Given the description of an element on the screen output the (x, y) to click on. 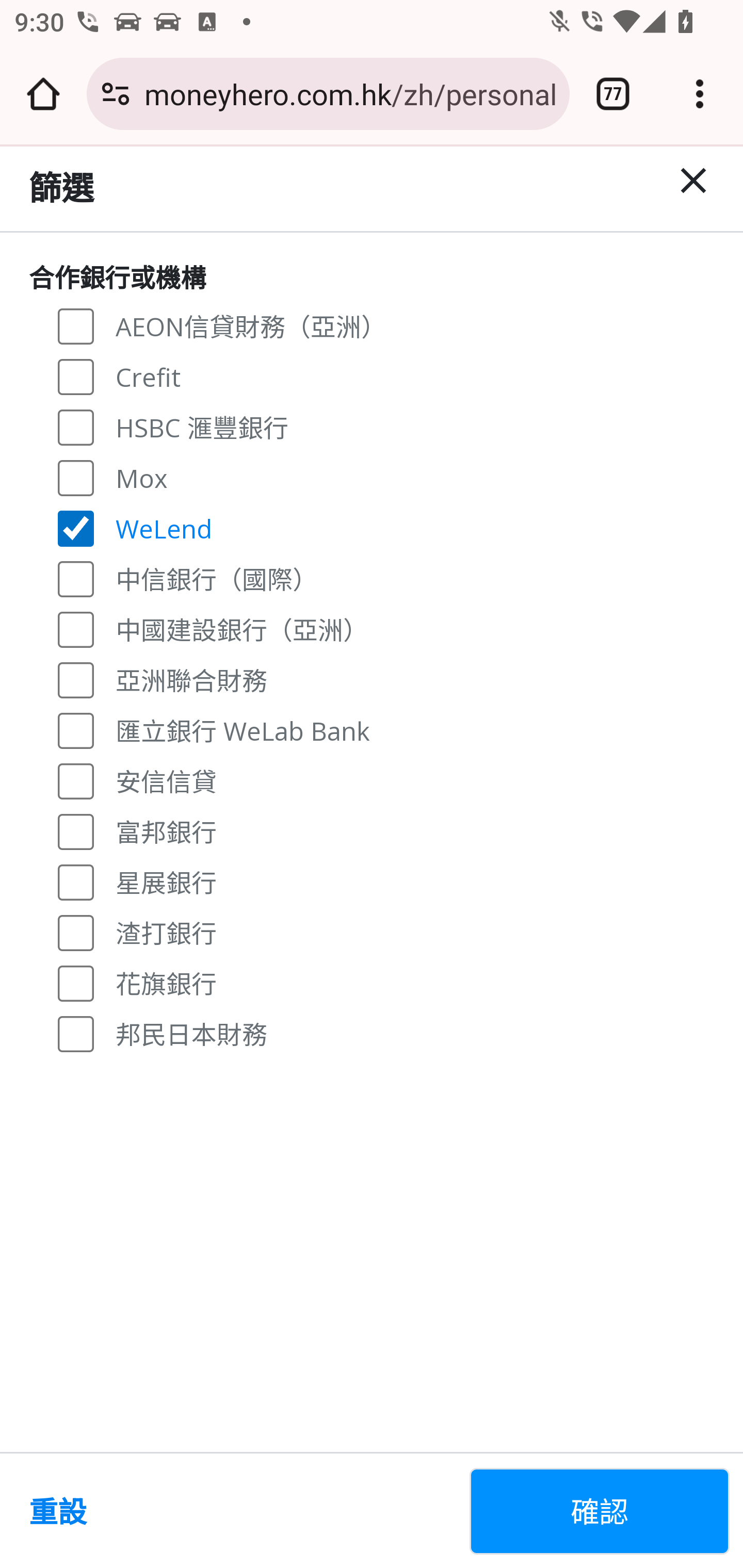
Open the home page (43, 93)
Connection is secure (115, 93)
Switch or close tabs (612, 93)
Customize and control Google Chrome (699, 93)
AEON信貸財務（亞洲） (76, 325)
Crefit (76, 376)
HSBC 滙豐銀行 (76, 426)
Mox (76, 476)
WeLend (76, 528)
中信銀行（國際） (76, 578)
中國建設銀行（亞洲） (76, 628)
亞洲聯合財務 (76, 678)
匯立銀行 WeLab Bank (76, 730)
安信信貸 (76, 780)
富邦銀行 (76, 830)
星展銀行 (76, 881)
渣打銀行 (76, 932)
花旗銀行 (76, 982)
邦民日本財務 (76, 1033)
重設 (241, 1511)
確認 (600, 1511)
